Given the description of an element on the screen output the (x, y) to click on. 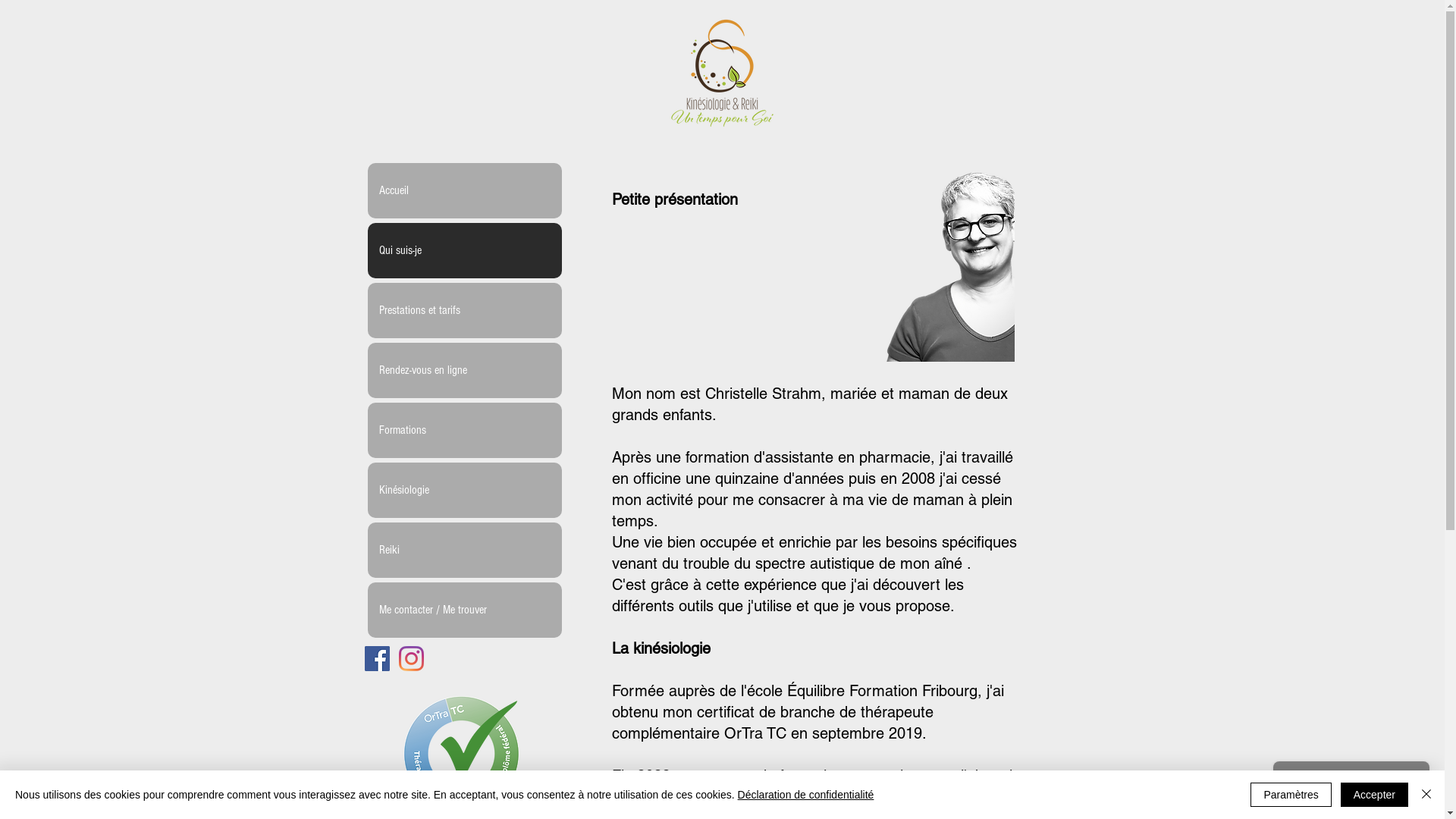
Rendez-vous en ligne Element type: text (464, 370)
Accueil Element type: text (464, 190)
Accepter Element type: text (1374, 794)
Qui suis-je Element type: text (464, 250)
Me contacter / Me trouver Element type: text (464, 609)
Formations Element type: text (464, 430)
Prestations et tarifs Element type: text (464, 310)
Reiki Element type: text (464, 549)
Christelle avec logo oct 2023.JPG Element type: hover (933, 253)
